Given the description of an element on the screen output the (x, y) to click on. 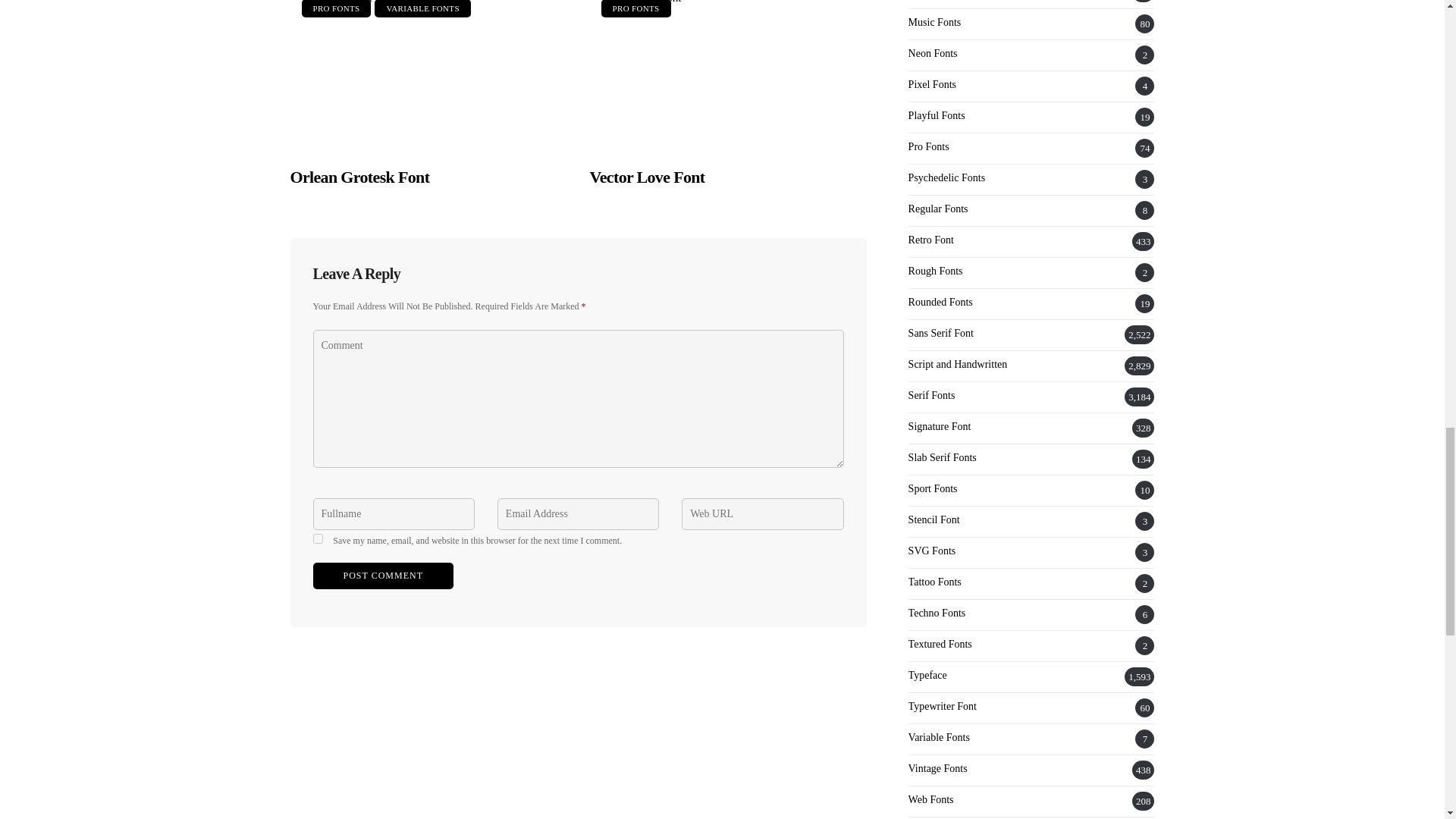
Post Comment (382, 575)
Vector Love Font (727, 74)
PRO FONTS (336, 8)
VARIABLE FONTS (422, 8)
PRO FONTS (636, 8)
Vector Love Font (646, 176)
yes (317, 538)
Post Comment (382, 575)
Orlean Grotesk Font (359, 176)
Orlean Grotesk Font (427, 74)
